Given the description of an element on the screen output the (x, y) to click on. 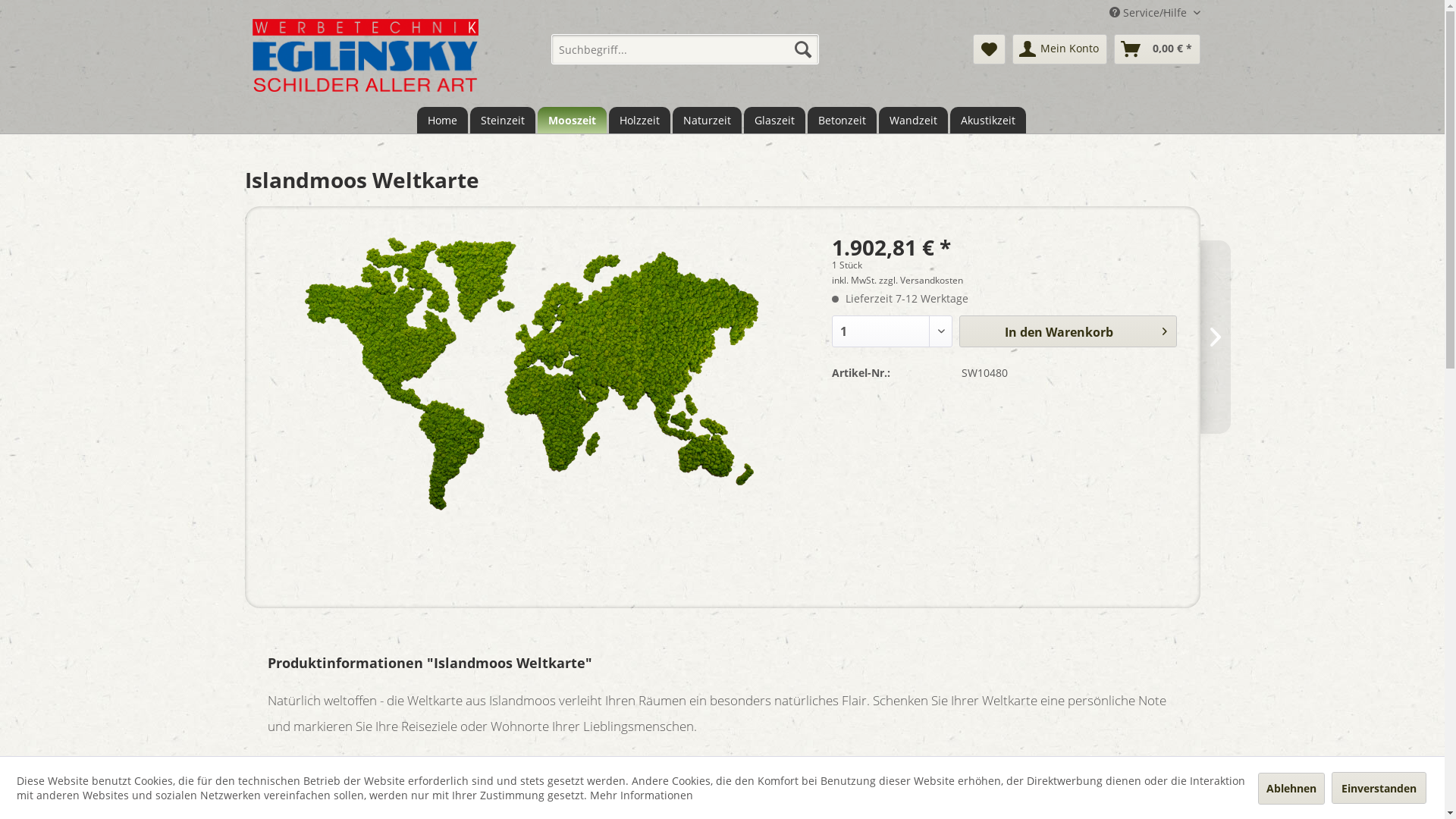
eglinsky.raumzeit.cc - zur Startseite wechseln Element type: hover (364, 54)
zzgl. Versandkosten Element type: text (920, 279)
Mooszeit Element type: text (570, 119)
Mein Konto Element type: text (1058, 49)
Merkzettel Element type: hover (988, 49)
Betonzeit Element type: text (840, 119)
Einverstanden Element type: text (1378, 787)
Mehr Informationen Element type: text (641, 794)
Steinzeit Element type: text (502, 119)
Holzzeit Element type: text (638, 119)
In den Warenkorb Element type: text (1067, 331)
Home Element type: text (442, 119)
Ablehnen Element type: text (1291, 788)
Glaszeit Element type: text (773, 119)
Naturzeit Element type: text (705, 119)
Akustikzeit Element type: text (987, 119)
Moos Buchstaben Element type: hover (1139, 336)
Wandzeit Element type: text (912, 119)
